Given the description of an element on the screen output the (x, y) to click on. 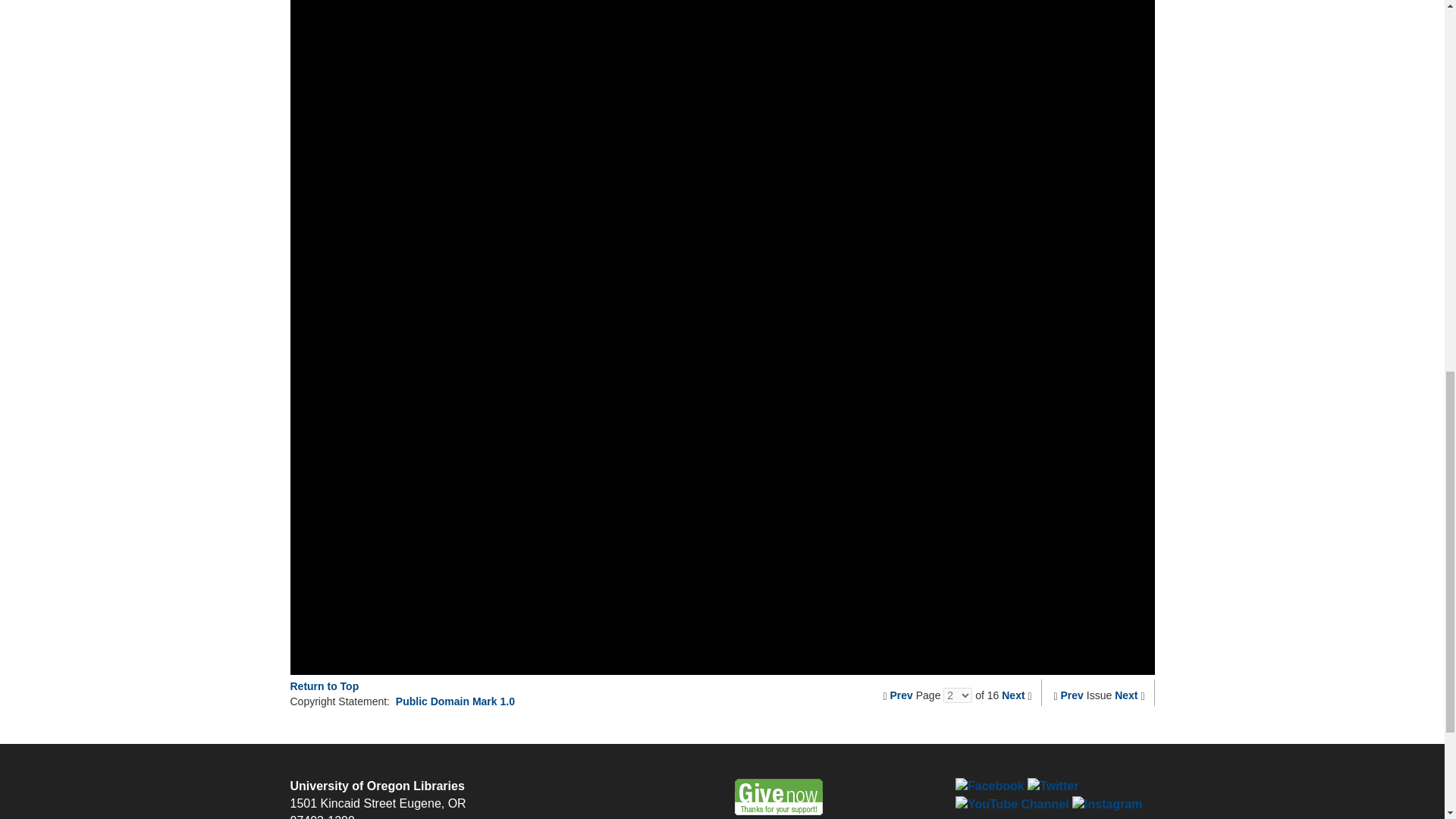
Return to Top (323, 686)
Next (1126, 695)
Next (1013, 695)
Prev (900, 695)
Prev (1072, 695)
Public Domain Mark 1.0 (455, 701)
